Given the description of an element on the screen output the (x, y) to click on. 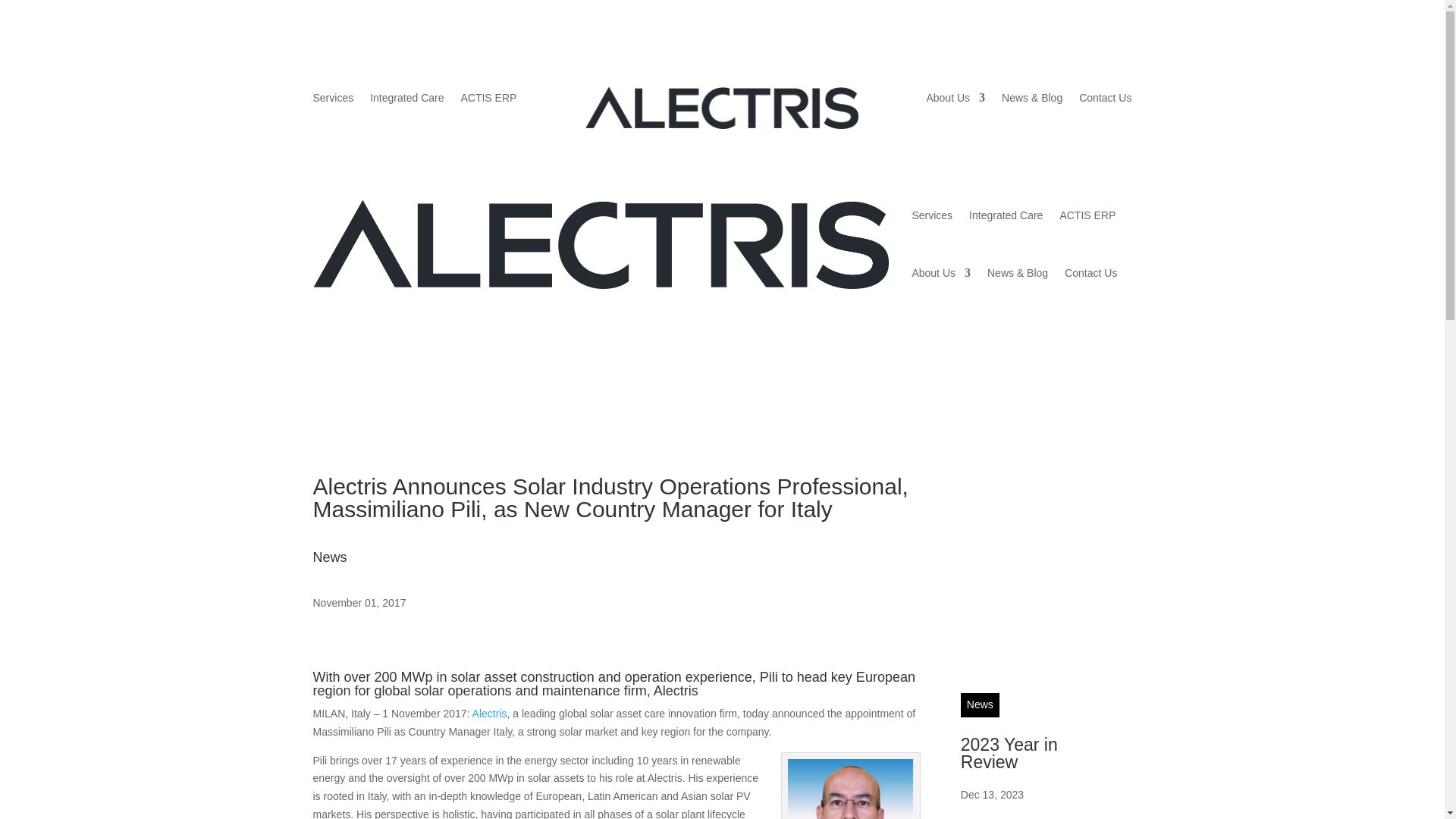
Services (333, 100)
News (329, 557)
ACTIS ERP (488, 100)
News (979, 704)
2023 Year in Review (1009, 753)
Contact Us (1090, 273)
ACTIS ERP (1087, 215)
About Us (955, 100)
Contact Us (1104, 100)
Integrated Care (406, 100)
